Given the description of an element on the screen output the (x, y) to click on. 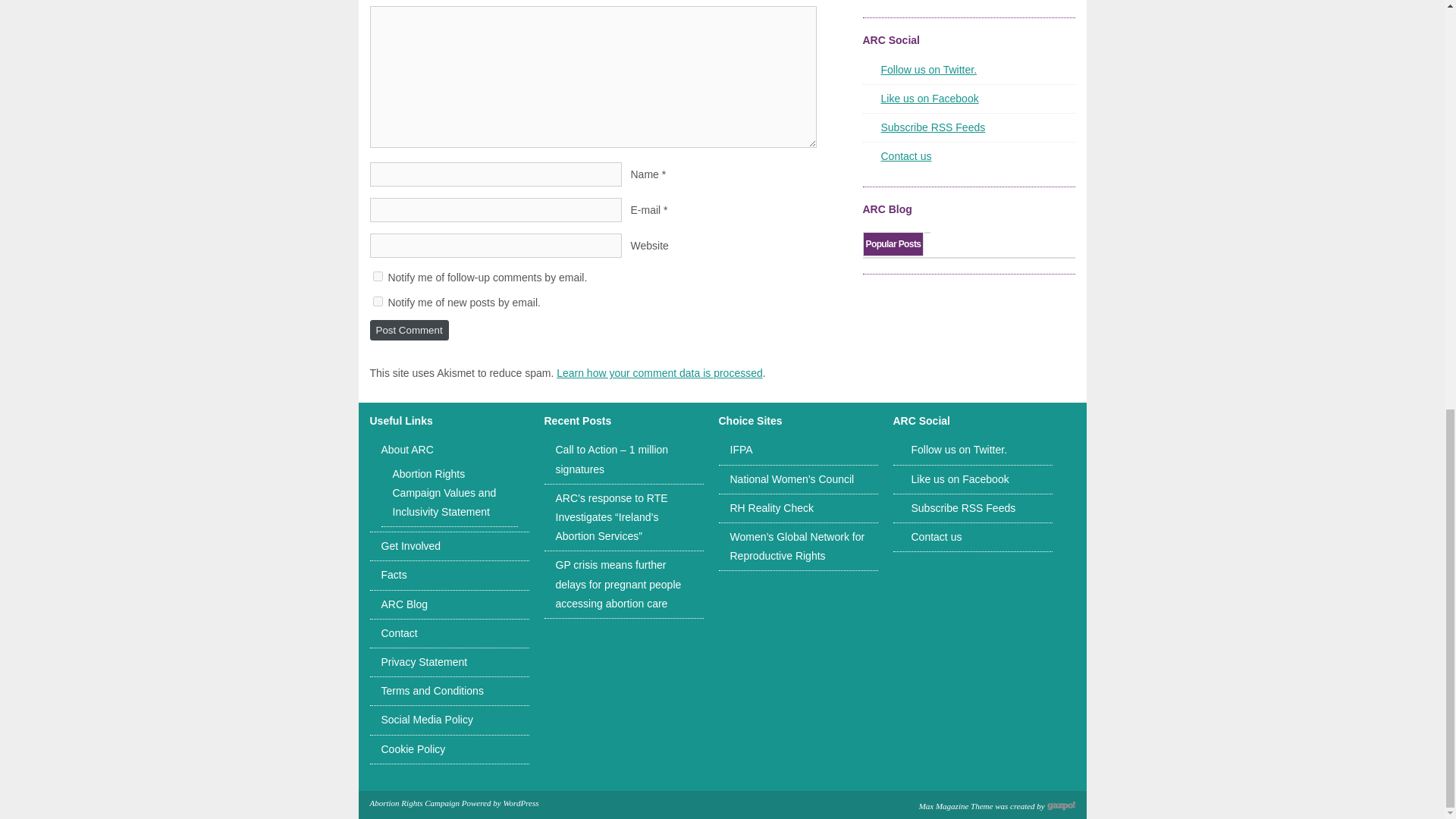
subscribe (377, 301)
Subscribe RSS Feeds (963, 508)
Contact us (905, 155)
subscribe (377, 276)
Follow us on twitter (928, 69)
Follow us on twitter (959, 449)
Like us on Facebook (929, 98)
Post Comment (408, 330)
Subscribe RSS Feeds (932, 127)
Like us on Facebook (960, 479)
